Given the description of an element on the screen output the (x, y) to click on. 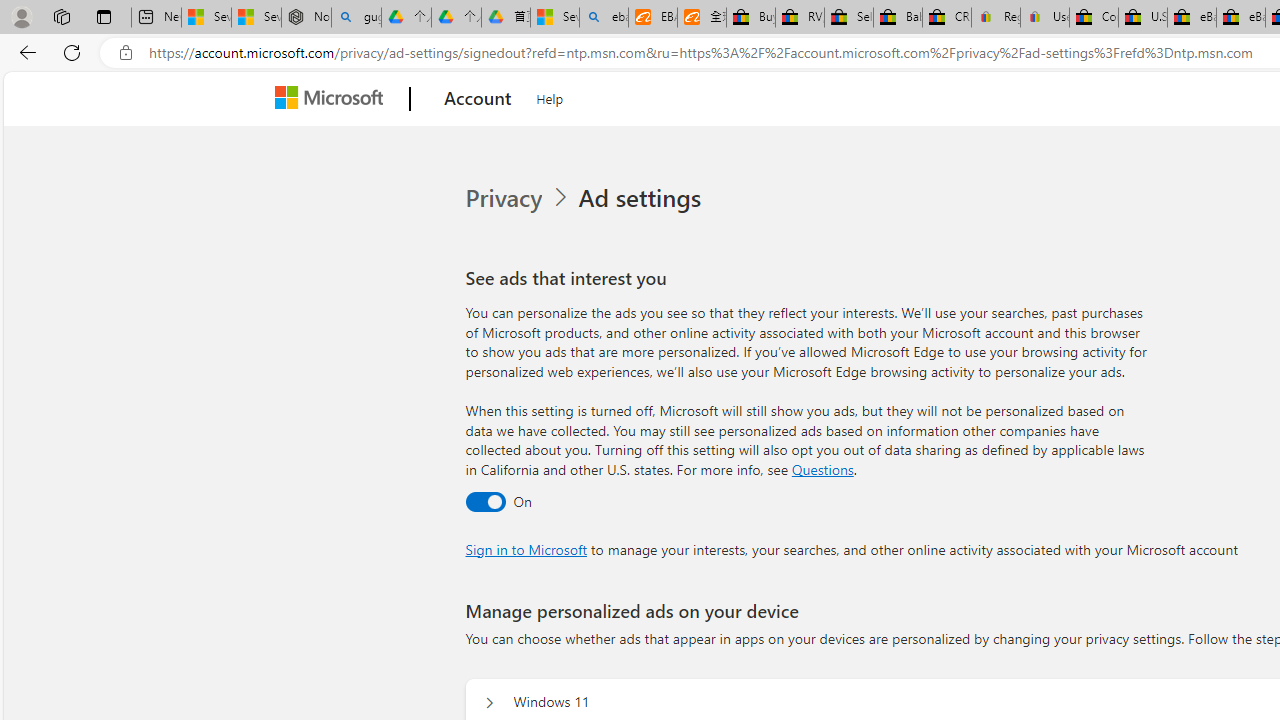
Help (550, 96)
Go to Questions section (822, 468)
